Given the description of an element on the screen output the (x, y) to click on. 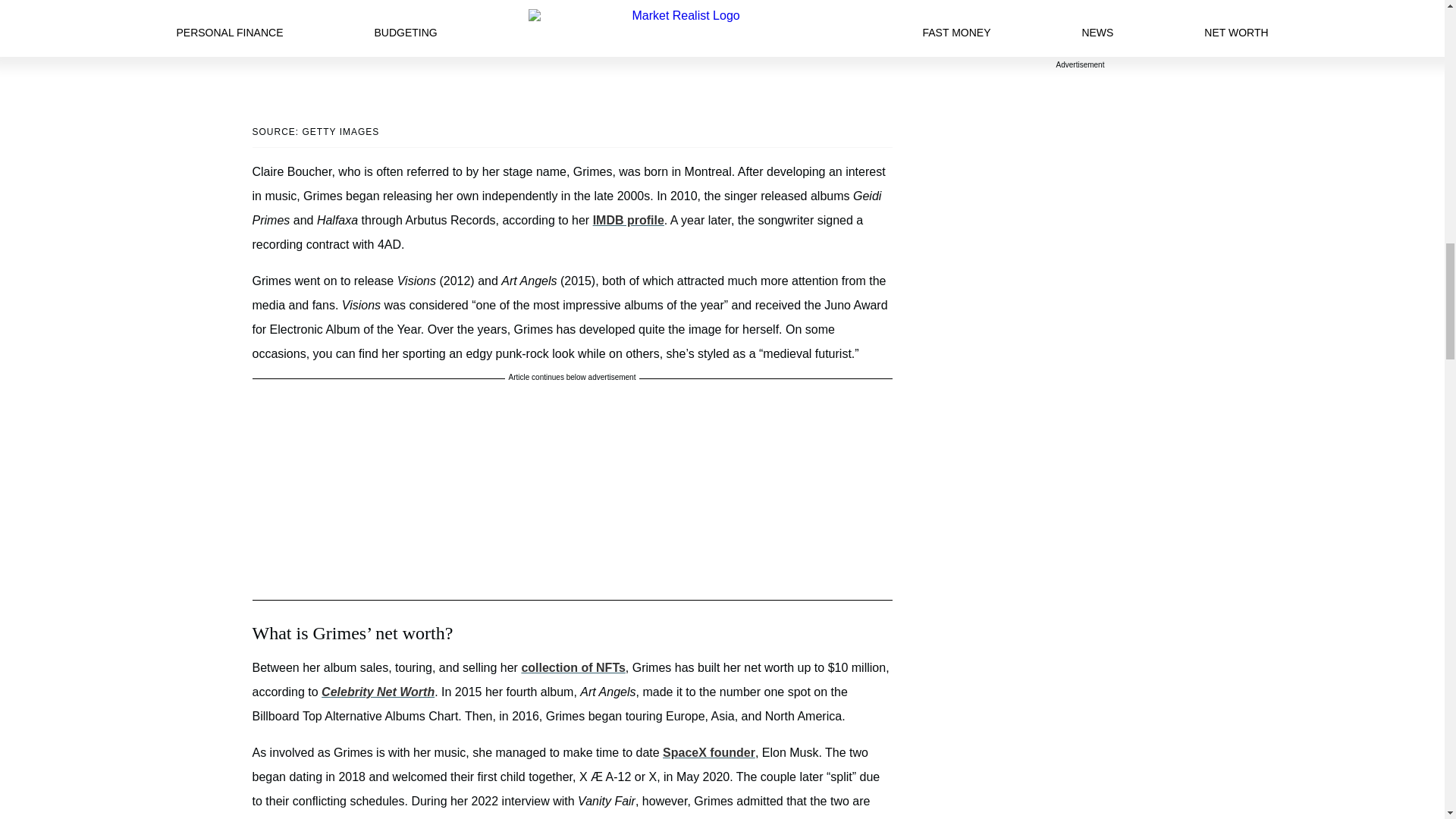
Celebrity Net Worth (377, 691)
IMDB profile (627, 219)
collection of NFTs (572, 667)
SpaceX founder (708, 752)
